Given the description of an element on the screen output the (x, y) to click on. 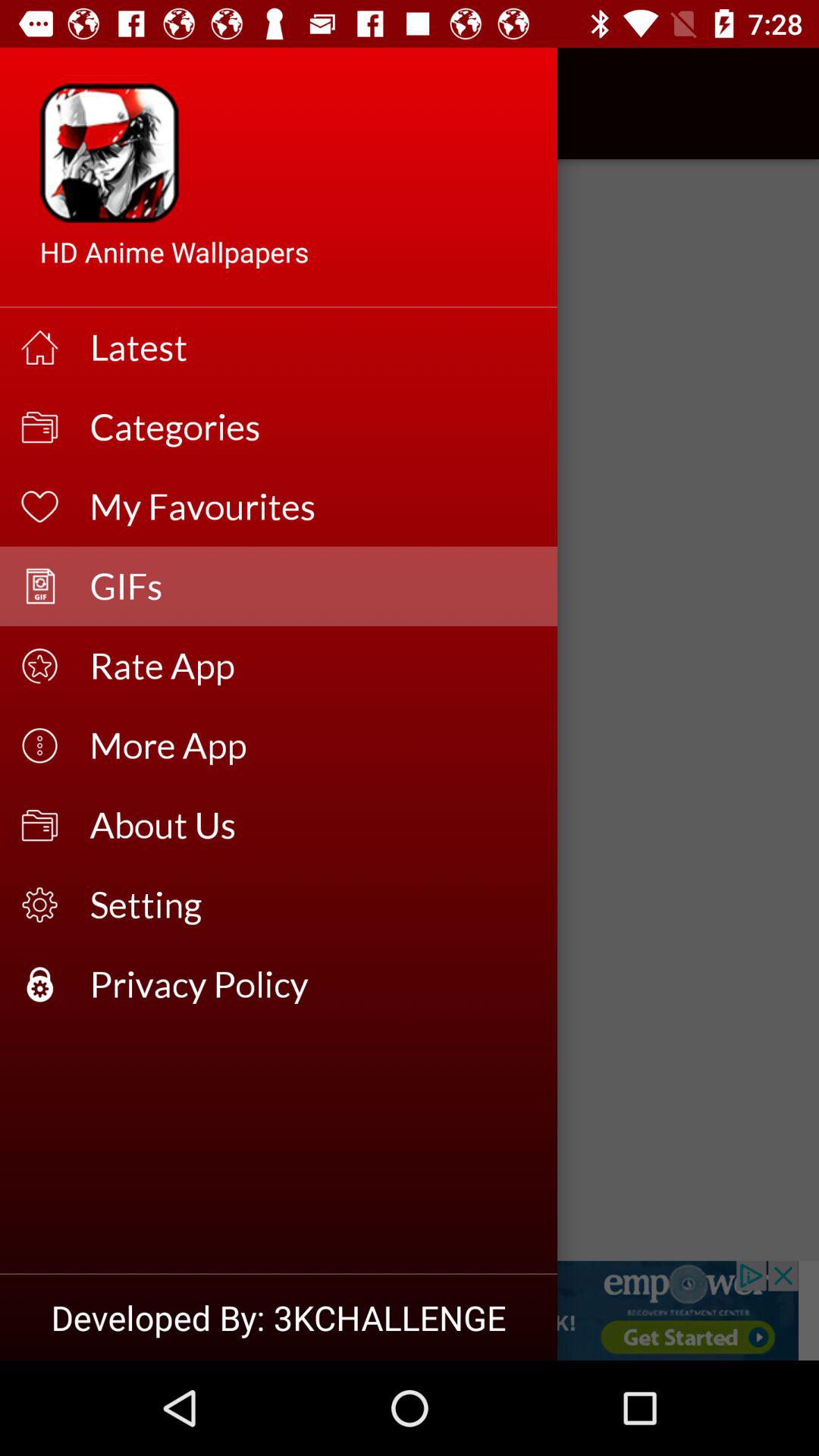
press the item next to gif icon (55, 103)
